Given the description of an element on the screen output the (x, y) to click on. 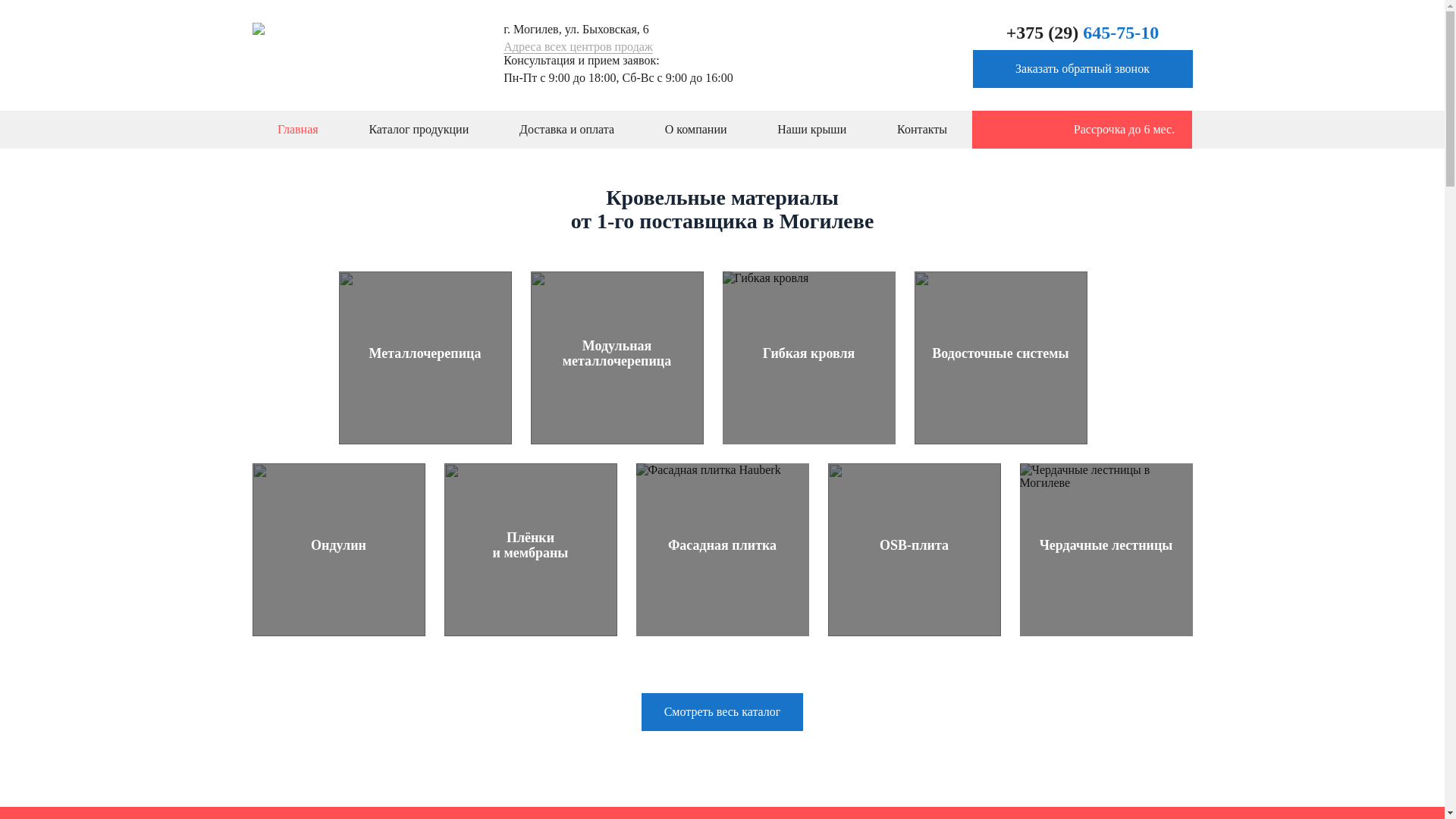
+375 (29) 645-75-10 Element type: text (1082, 32)
